Given the description of an element on the screen output the (x, y) to click on. 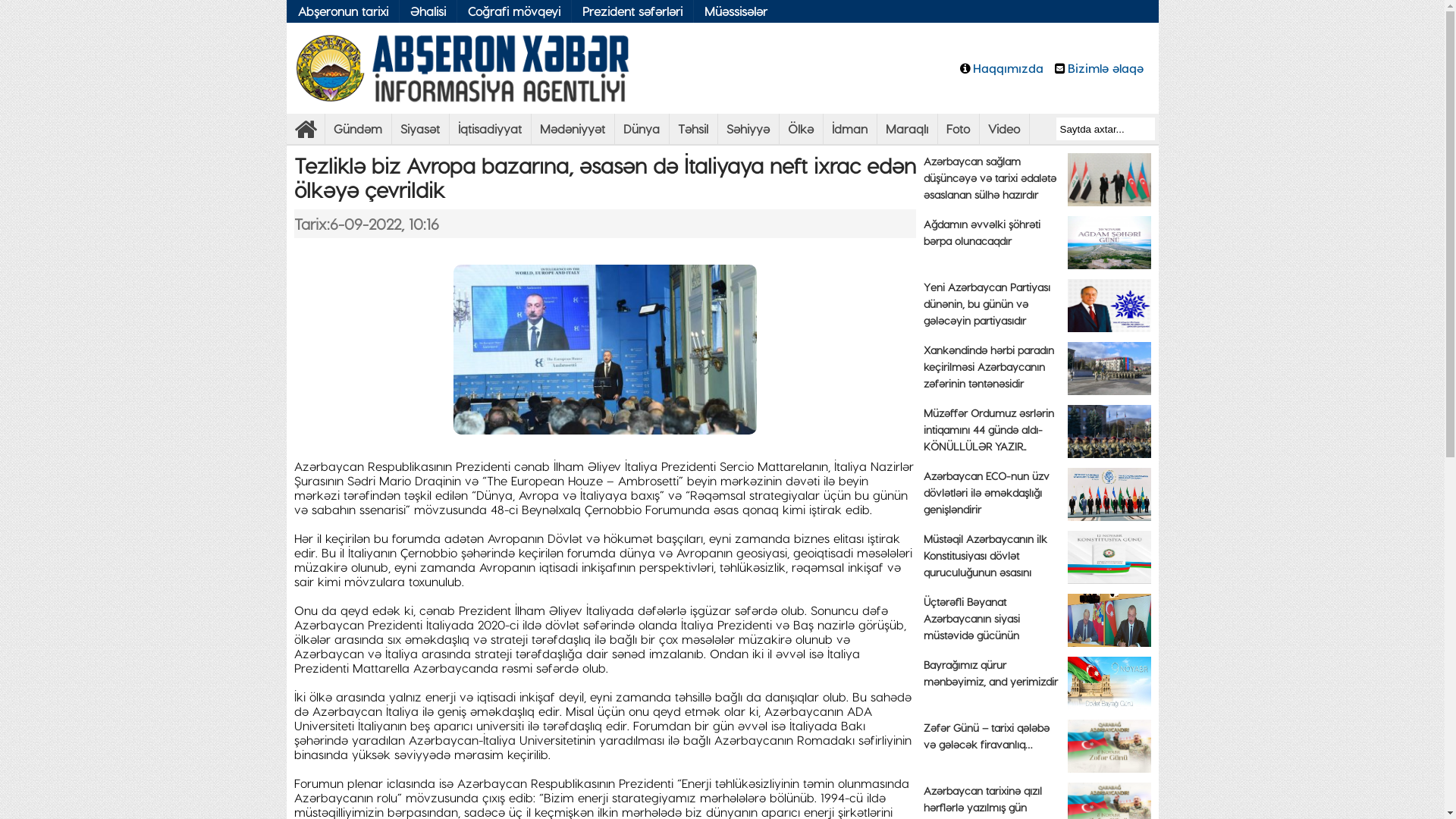
Absheron media Element type: hover (305, 132)
Video Element type: text (1004, 128)
Saytda axtar... Element type: hover (1104, 128)
Foto Element type: text (957, 128)
